Given the description of an element on the screen output the (x, y) to click on. 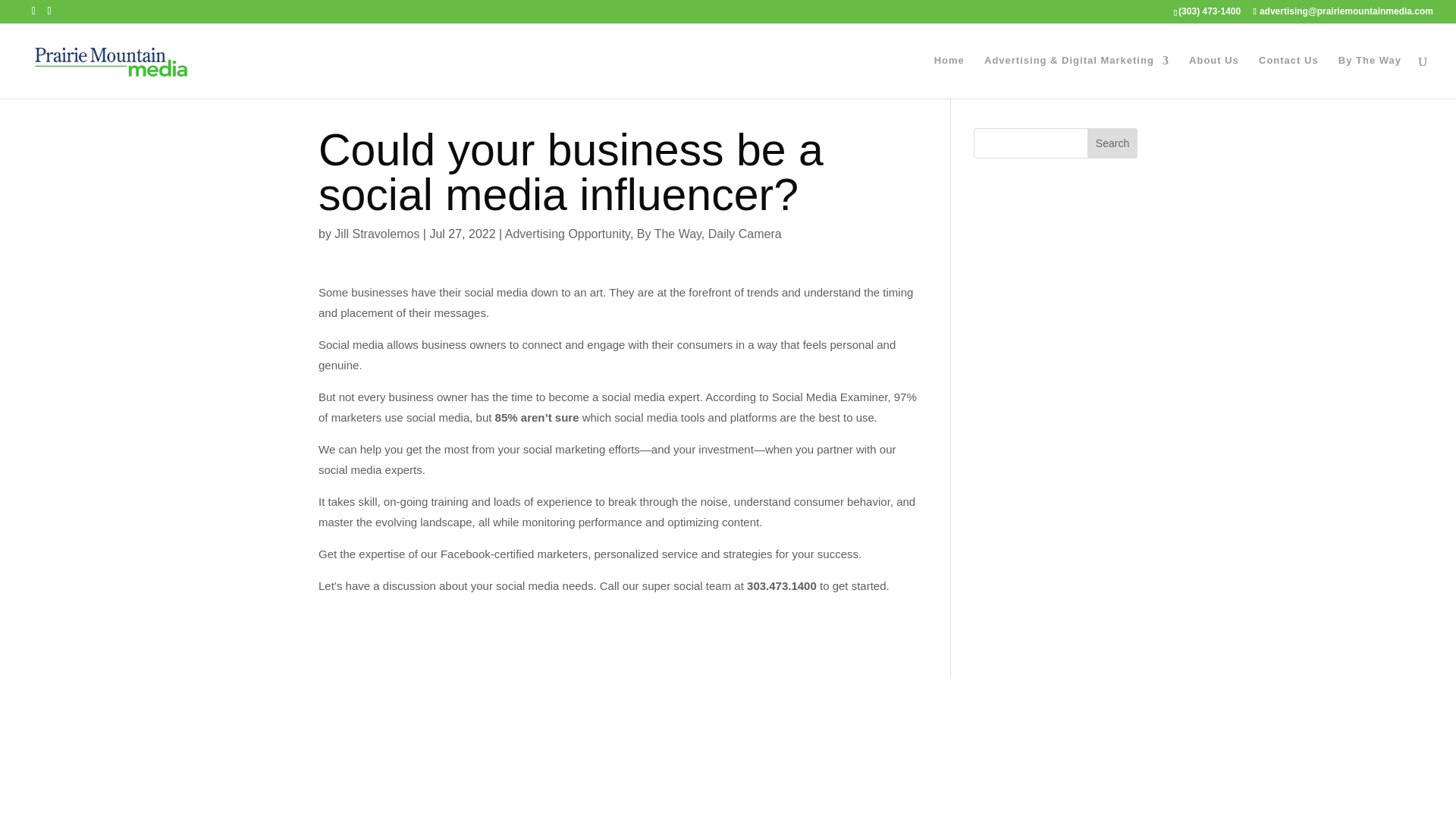
Jill Stravolemos (376, 233)
Posts by Jill Stravolemos (376, 233)
Search (1112, 142)
By The Way (669, 233)
By The Way (1369, 76)
Search (1112, 142)
About Us (1214, 76)
Daily Camera (744, 233)
Contact Us (1289, 76)
Advertising Opportunity (567, 233)
